Given the description of an element on the screen output the (x, y) to click on. 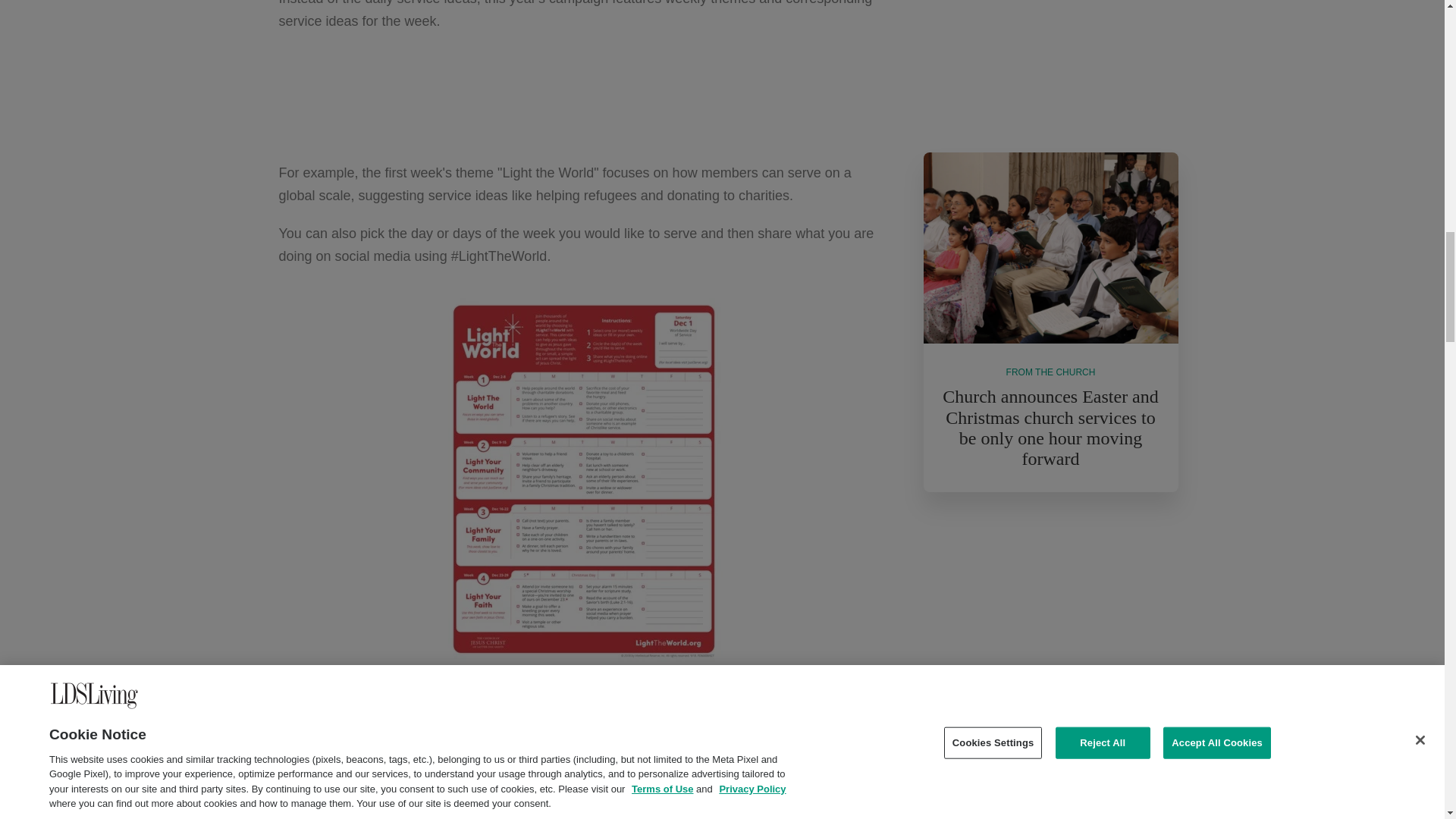
3rd party ad content (582, 97)
3rd party ad content (1050, 628)
3rd party ad content (1050, 61)
